Given the description of an element on the screen output the (x, y) to click on. 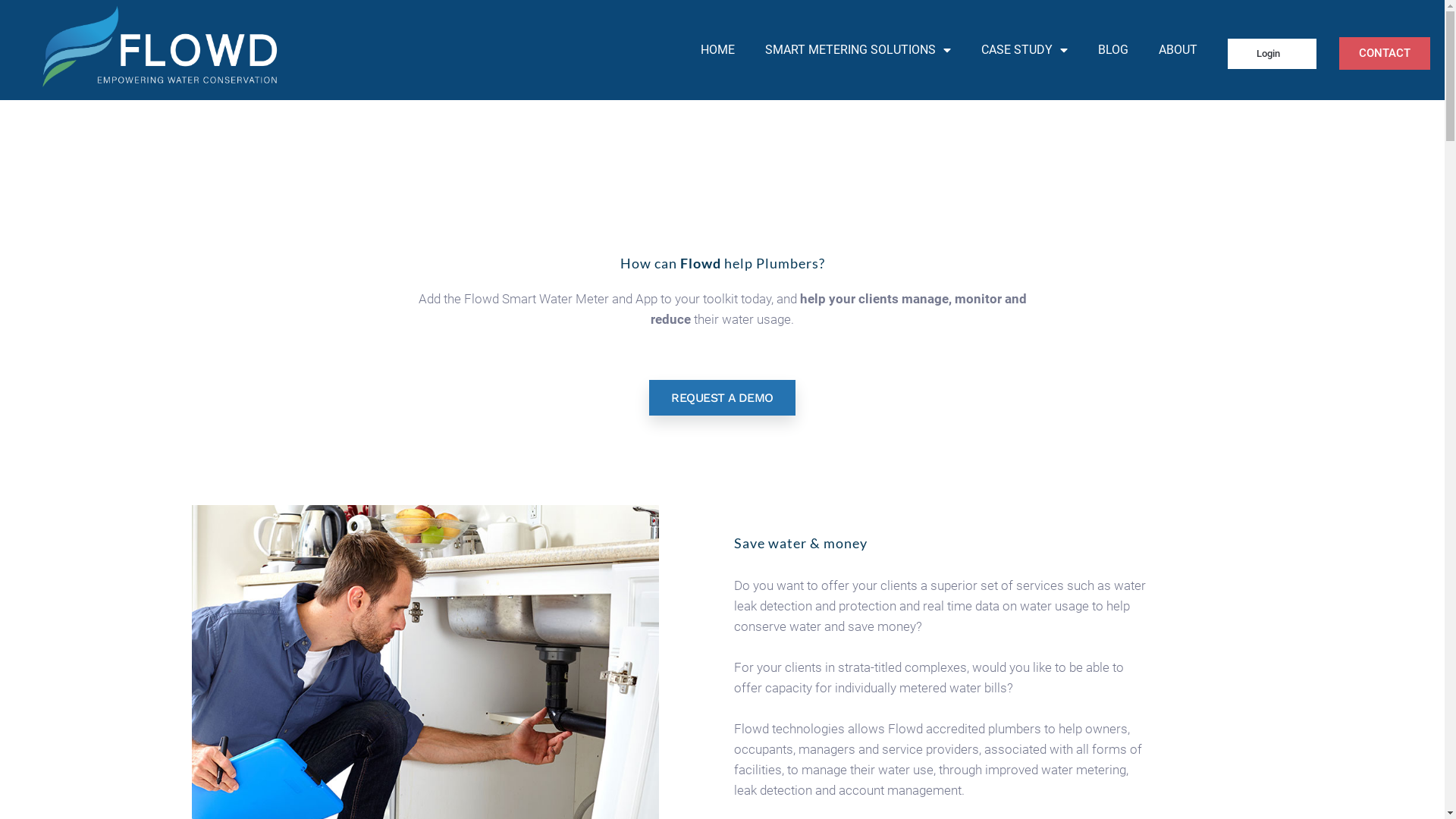
BLOG Element type: text (1112, 49)
REQUEST A DEMO Element type: text (721, 397)
SMART METERING SOLUTIONS Element type: text (857, 49)
ABOUT Element type: text (1177, 49)
HOME Element type: text (717, 49)
CONTACT Element type: text (1384, 53)
Login Element type: text (1272, 53)
CASE STUDY Element type: text (1024, 49)
